Given the description of an element on the screen output the (x, y) to click on. 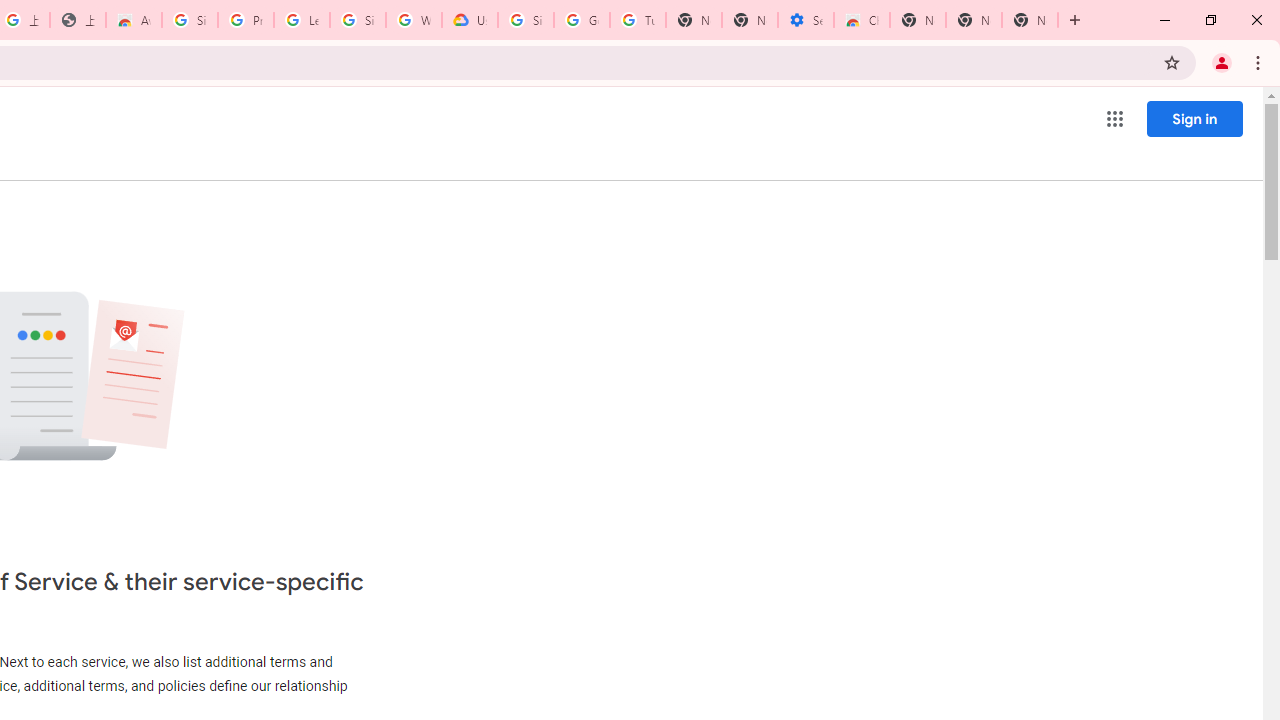
New Tab (1030, 20)
Turn cookies on or off - Computer - Google Account Help (637, 20)
Sign in - Google Accounts (189, 20)
Awesome Screen Recorder & Screenshot - Chrome Web Store (134, 20)
Sign in - Google Accounts (525, 20)
New Tab (917, 20)
